Given the description of an element on the screen output the (x, y) to click on. 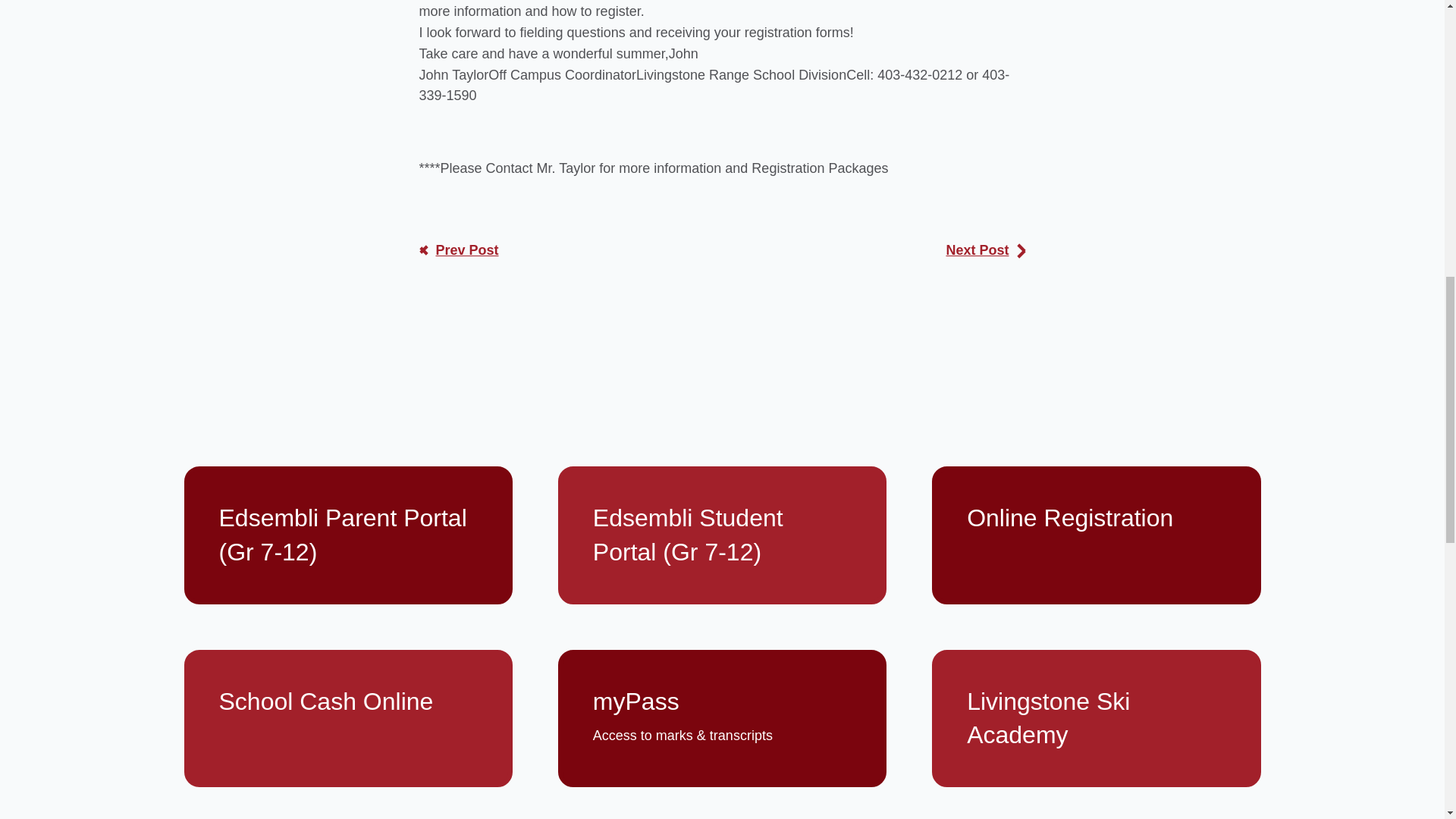
Online Registration (1095, 535)
Next Post (984, 250)
School Cash Online (347, 718)
myPass (721, 718)
Livingstone Ski Academy (1095, 718)
Previous Post (458, 249)
